Given the description of an element on the screen output the (x, y) to click on. 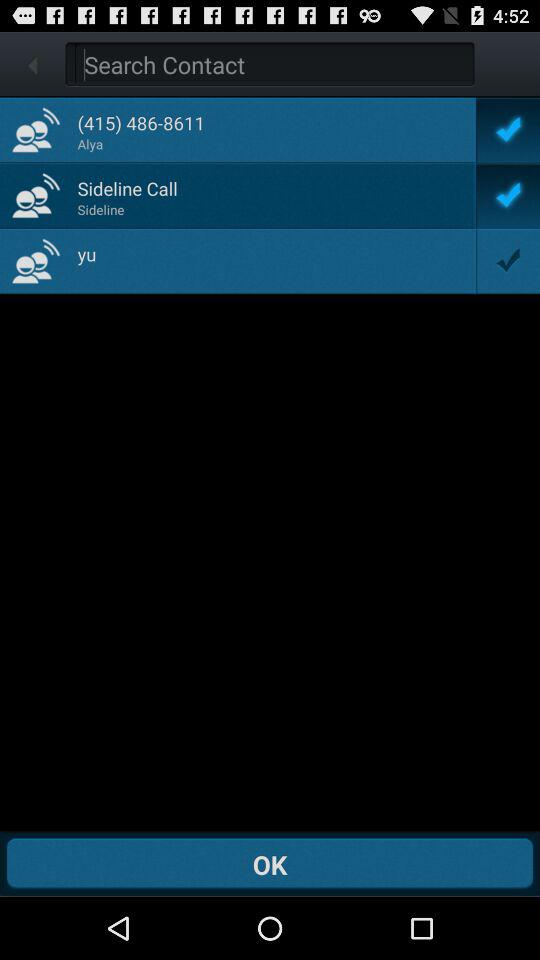
toggle the search box (274, 64)
